Given the description of an element on the screen output the (x, y) to click on. 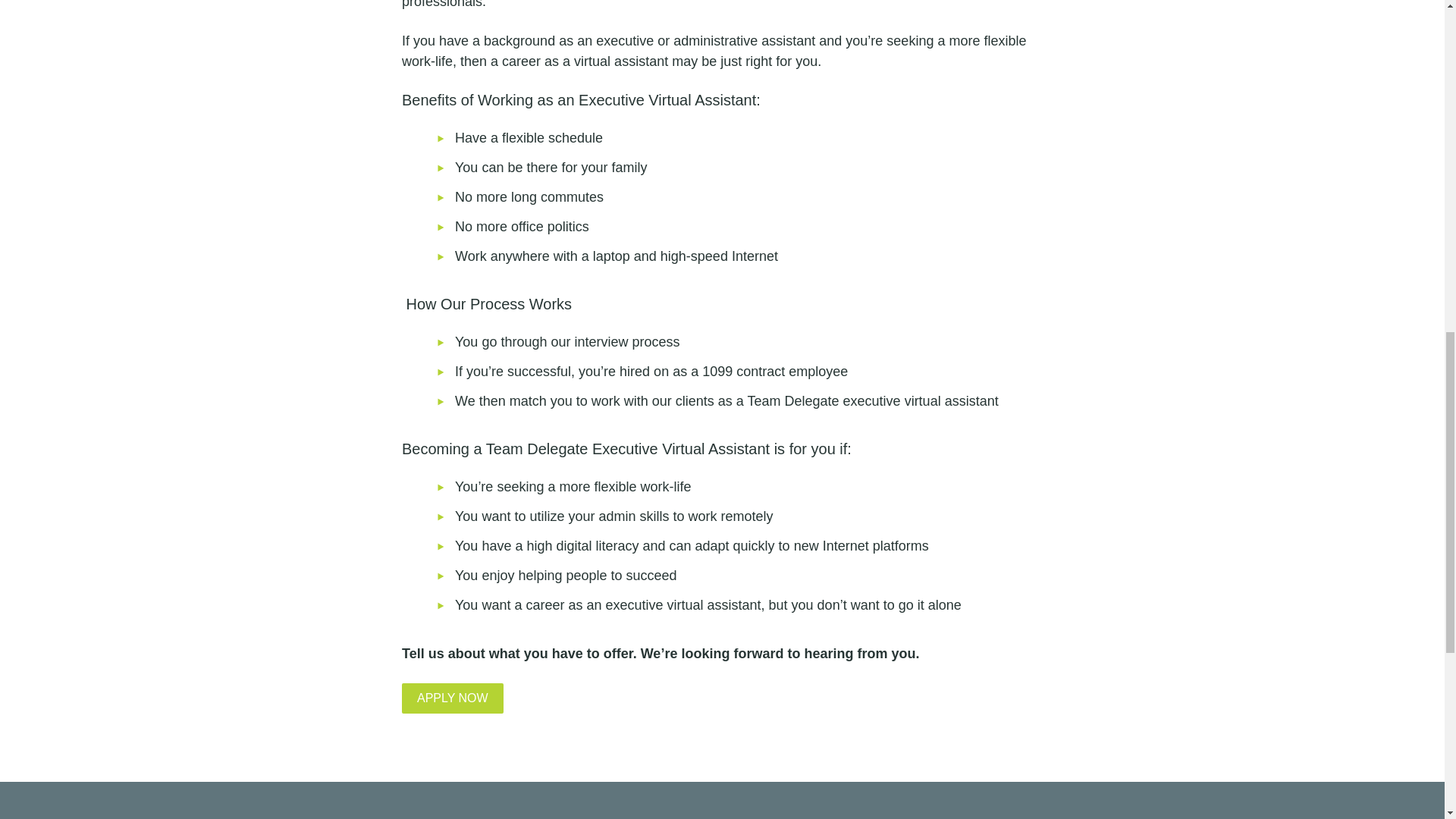
APPLY NOW (452, 698)
